Given the description of an element on the screen output the (x, y) to click on. 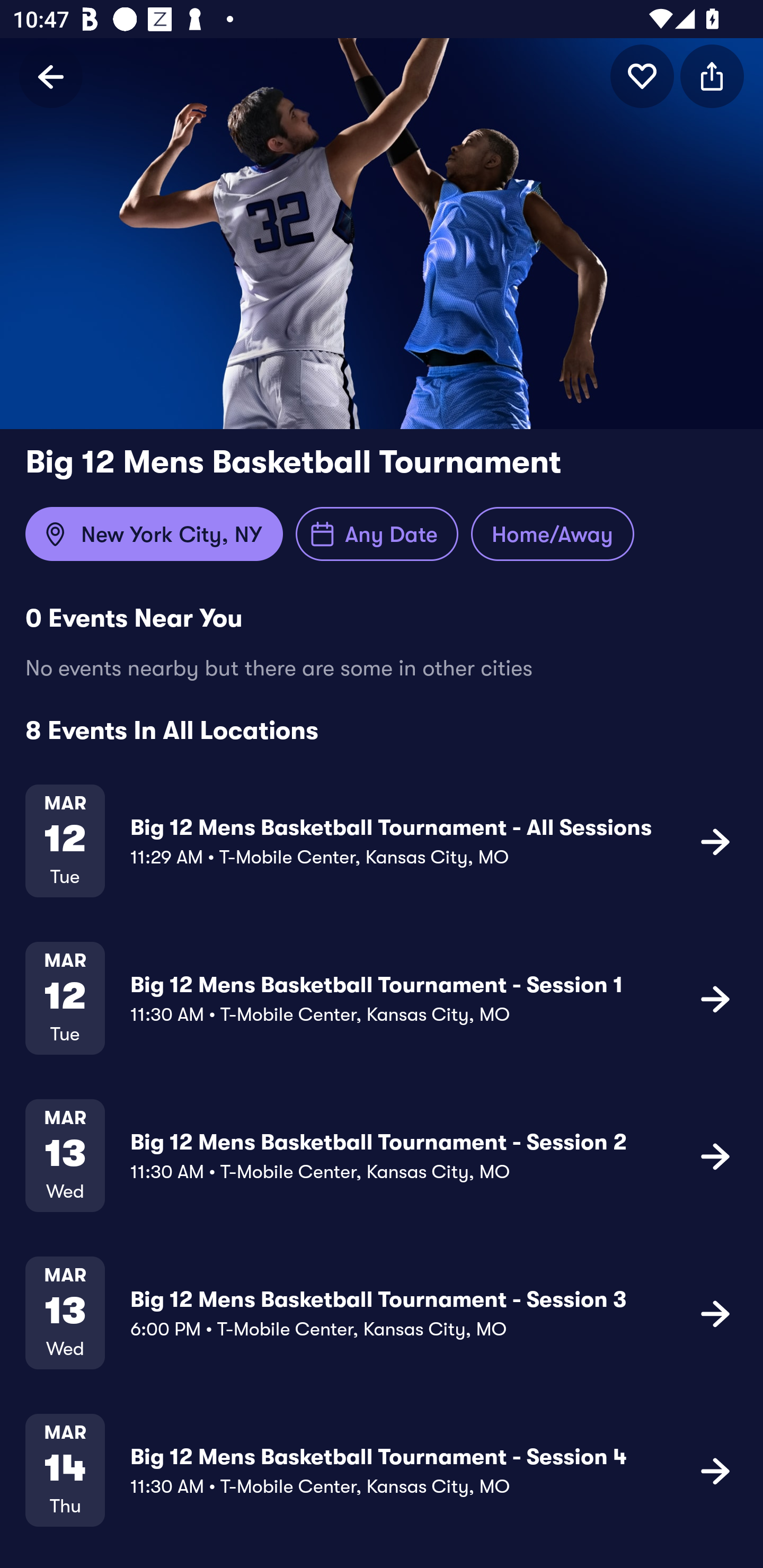
Back (50, 75)
icon button (641, 75)
icon button (711, 75)
New York City, NY (153, 533)
Any Date (377, 533)
Home/Away (552, 533)
icon button (714, 840)
icon button (714, 998)
icon button (714, 1155)
icon button (714, 1312)
icon button (714, 1470)
